Given the description of an element on the screen output the (x, y) to click on. 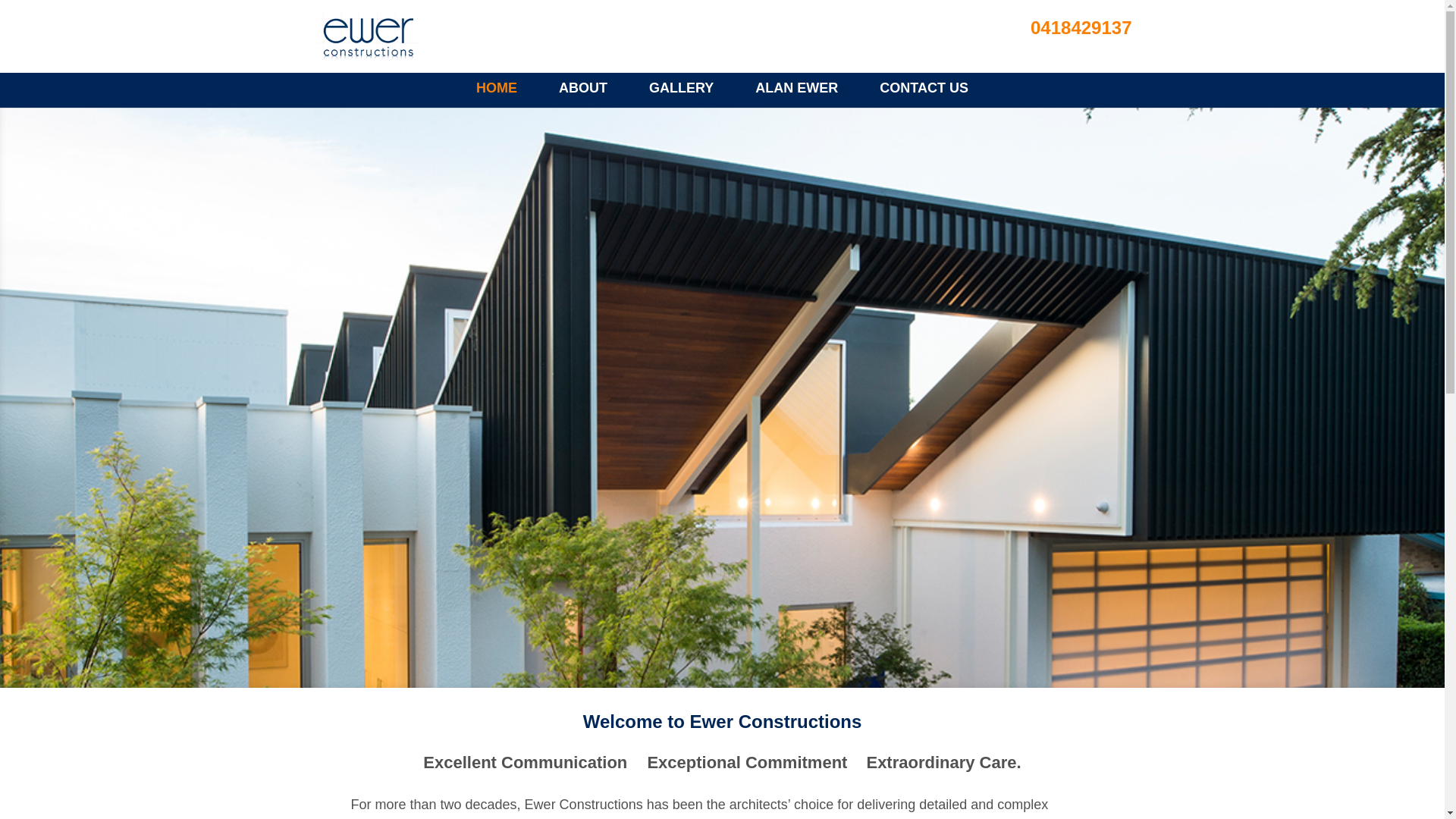
ABOUT Element type: text (582, 87)
GALLERY Element type: text (681, 87)
ALAN EWER Element type: text (796, 87)
0418429137 Element type: text (1076, 27)
CONTACT US Element type: text (923, 87)
HOME Element type: text (496, 87)
